Given the description of an element on the screen output the (x, y) to click on. 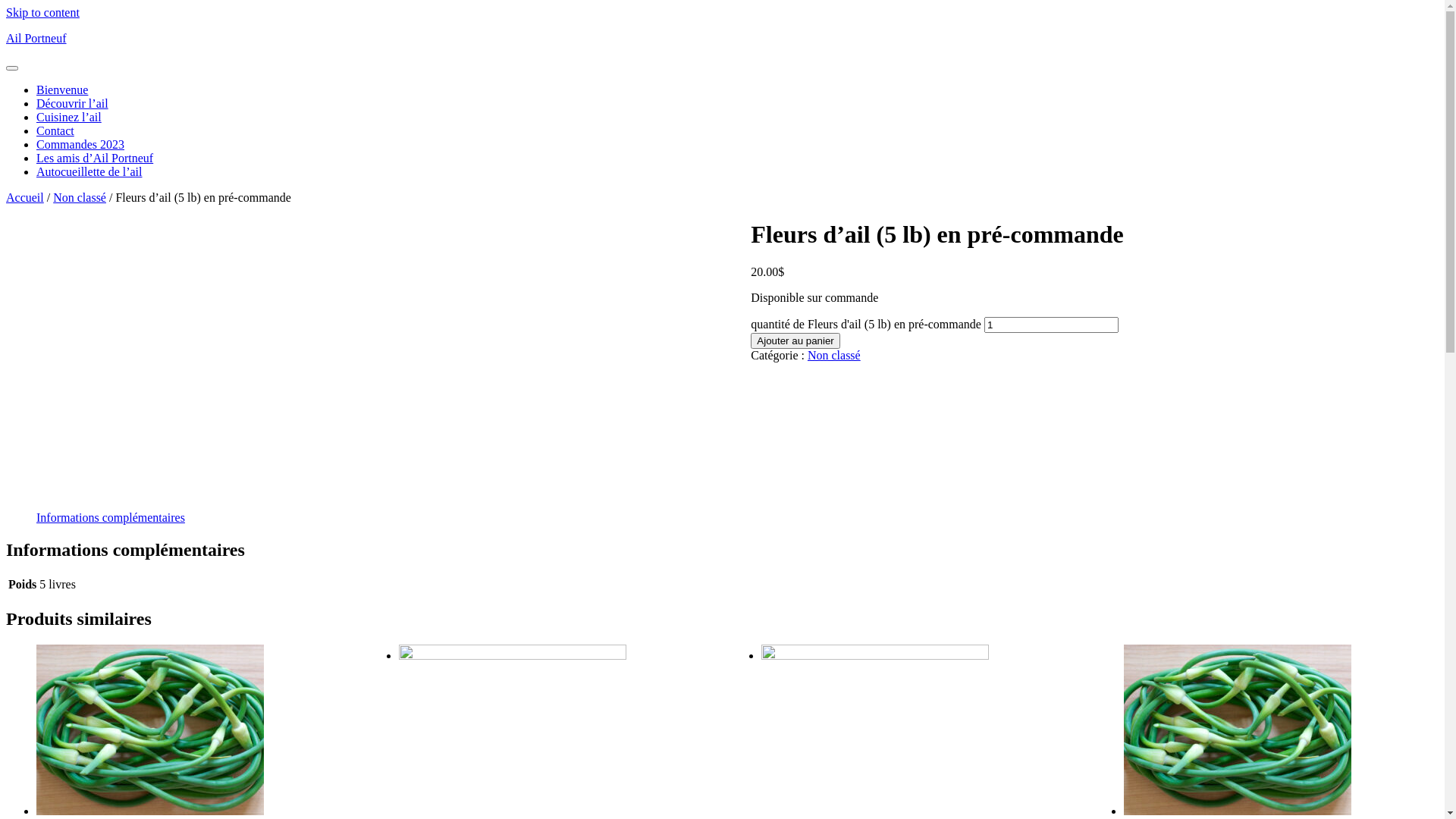
Contact Element type: text (55, 130)
Ajouter au panier Element type: text (795, 340)
Accueil Element type: text (24, 197)
Bienvenue Element type: text (61, 89)
Commandes 2023 Element type: text (80, 144)
Skip to content Element type: text (42, 12)
Ail Portneuf Element type: text (36, 37)
